Given the description of an element on the screen output the (x, y) to click on. 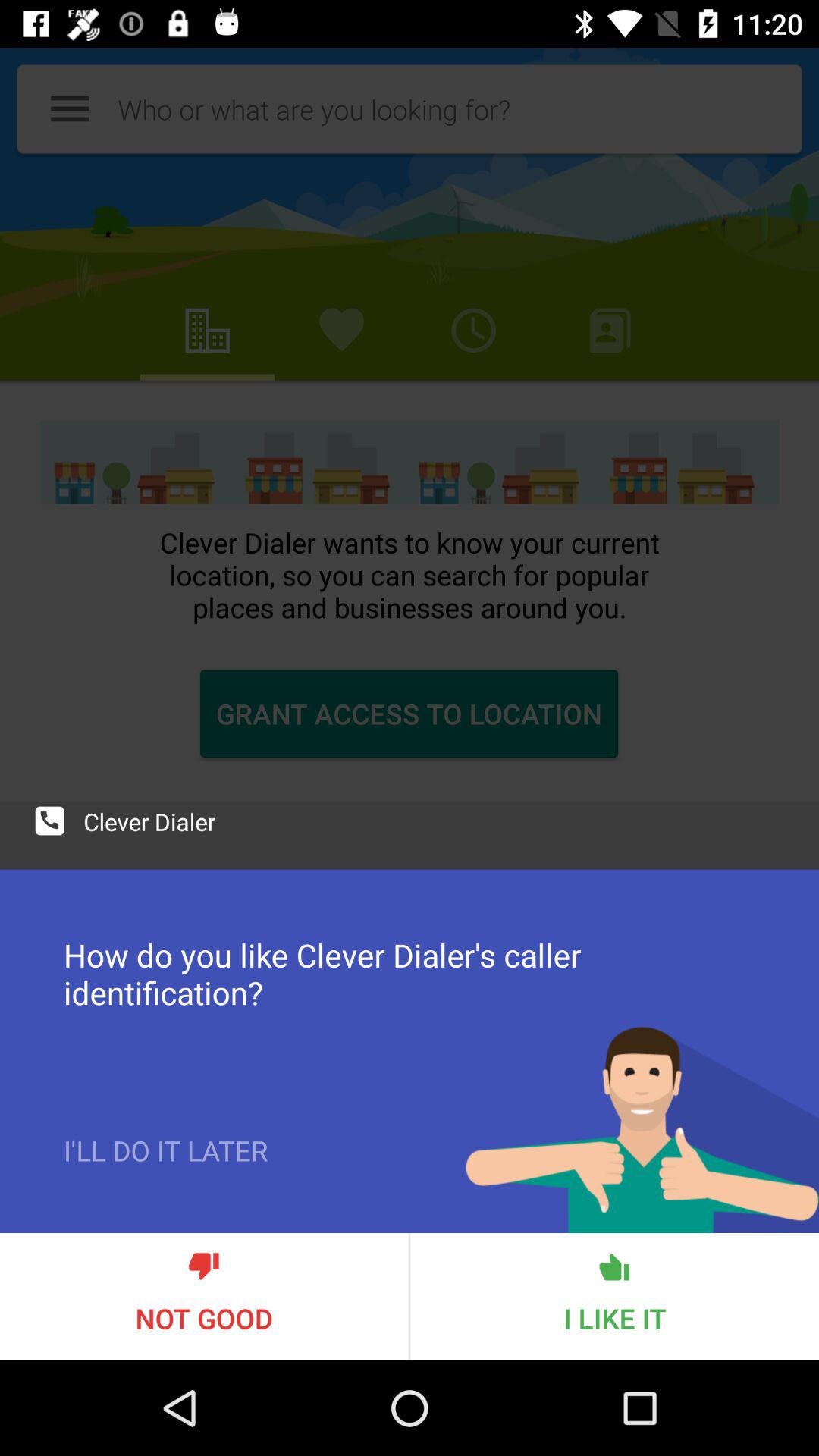
select icon above clever dialer icon (409, 426)
